Given the description of an element on the screen output the (x, y) to click on. 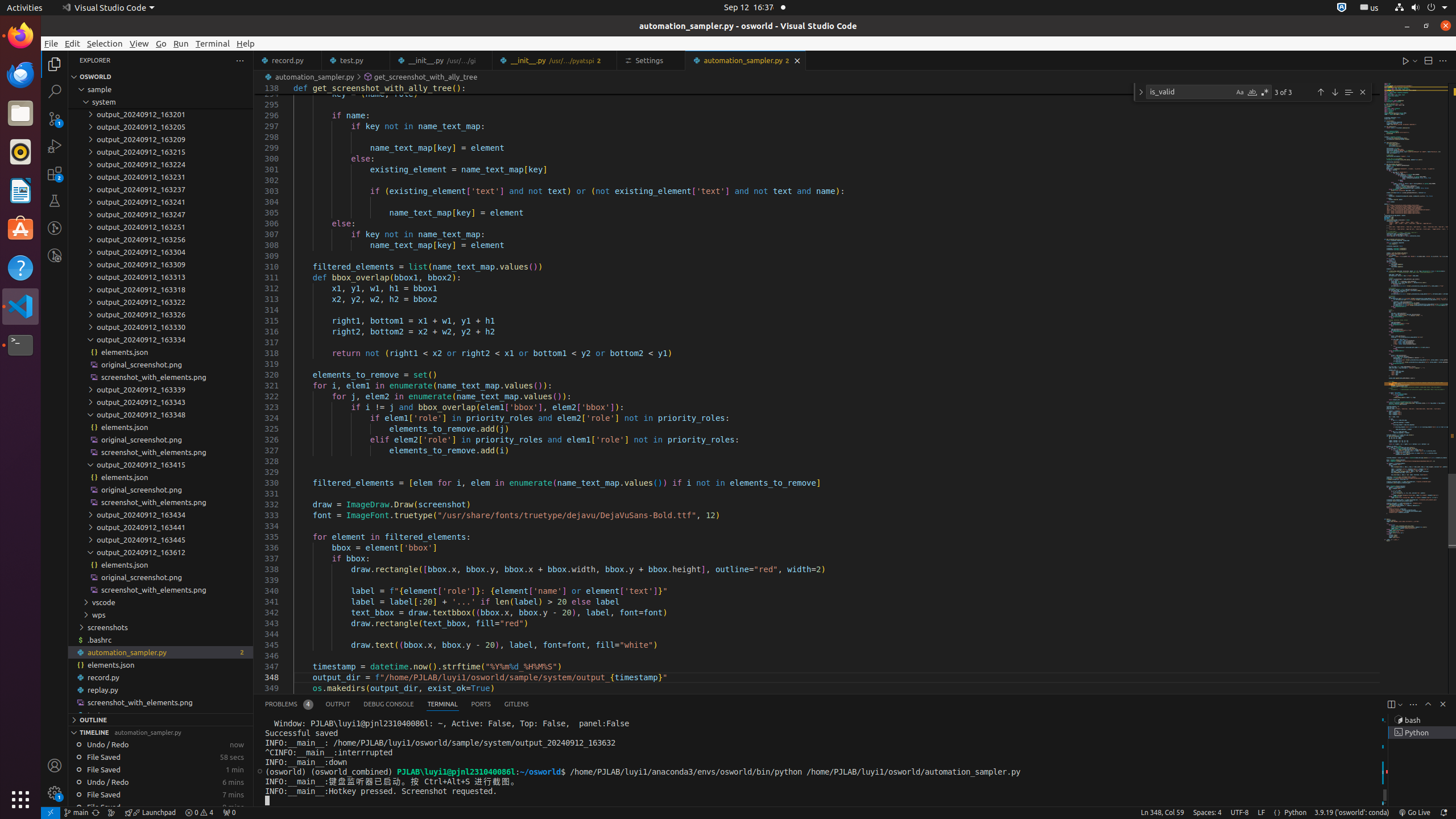
output_20240912_163215 Element type: tree-item (160, 151)
Notifications Element type: push-button (1443, 812)
Source Control (Ctrl+Shift+G G) - 1 pending changes Source Control (Ctrl+Shift+G G) - 1 pending changes Element type: page-tab (54, 118)
rocket gitlens-unplug Launchpad, GitLens Launchpad ᴘʀᴇᴠɪᴇᴡ    &mdash;    [$(question)](command:gitlens.launchpad.indicator.action?%22info%22 "What is this?") [$(gear)](command:workbench.action.openSettings?%22gitlens.launchpad%22 "Settings")  |  [$(circle-slash) Hide](command:gitlens.launchpad.indicator.action?%22hide%22 "Hide") --- [Launchpad](command:gitlens.launchpad.indicator.action?%info%22 "Learn about Launchpad") organizes your pull requests into actionable groups to help you focus and keep your team unblocked. It's always accessible using the `GitLens: Open Launchpad` command from the Command Palette. --- [Connect an integration](command:gitlens.showLaunchpad?%7B%22source%22%3A%22launchpad-indicator%22%7D "Connect an integration") to get started. Element type: push-button (150, 812)
wps Element type: tree-item (160, 614)
